Given the description of an element on the screen output the (x, y) to click on. 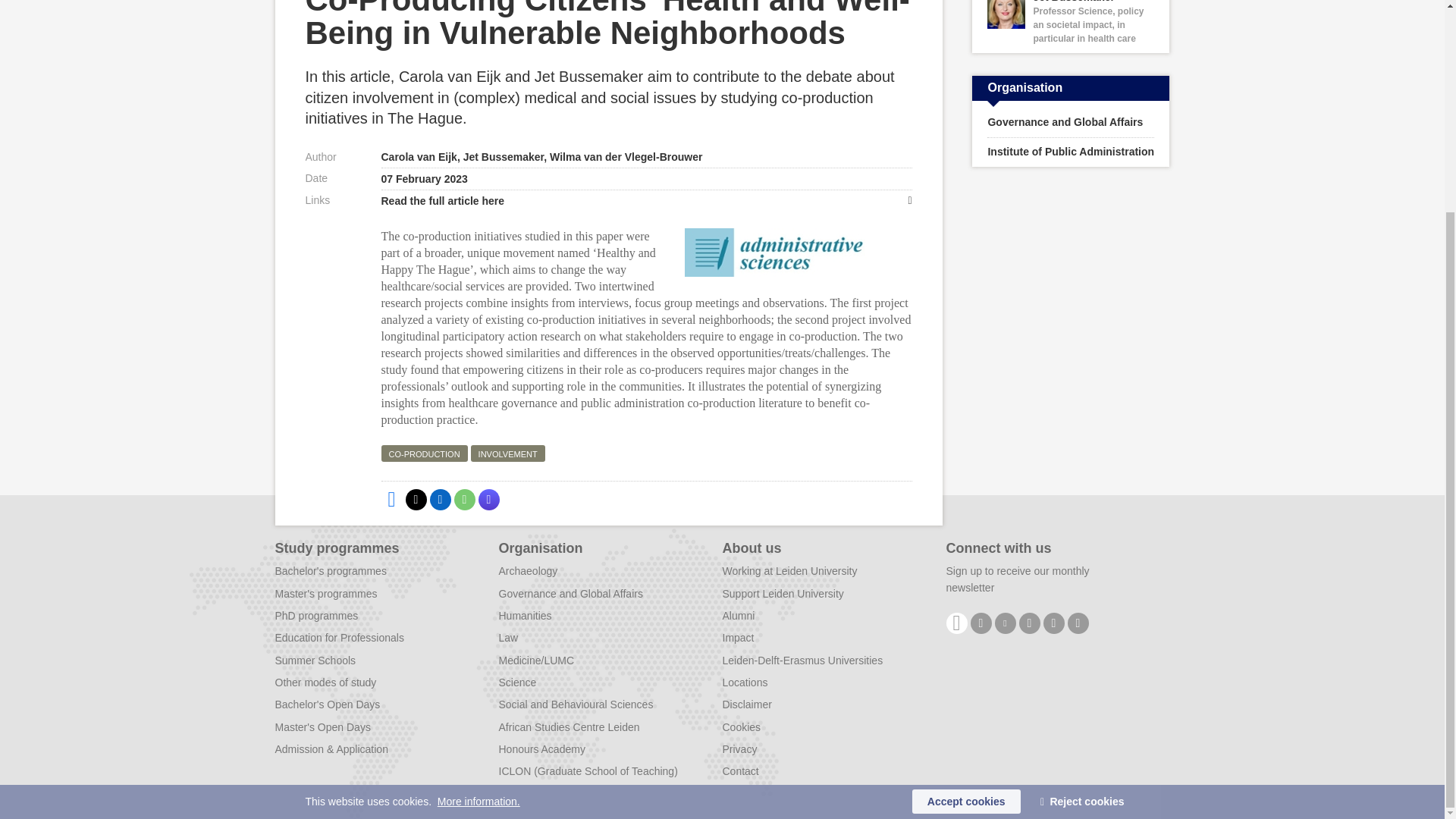
INVOLVEMENT (507, 453)
Share by WhatsApp (463, 499)
Read the full article here (645, 200)
Share on Facebook (390, 499)
Share on LinkedIn (439, 499)
CO-PRODUCTION (423, 453)
Share by Mastodon (488, 499)
Share on X (415, 499)
